Given the description of an element on the screen output the (x, y) to click on. 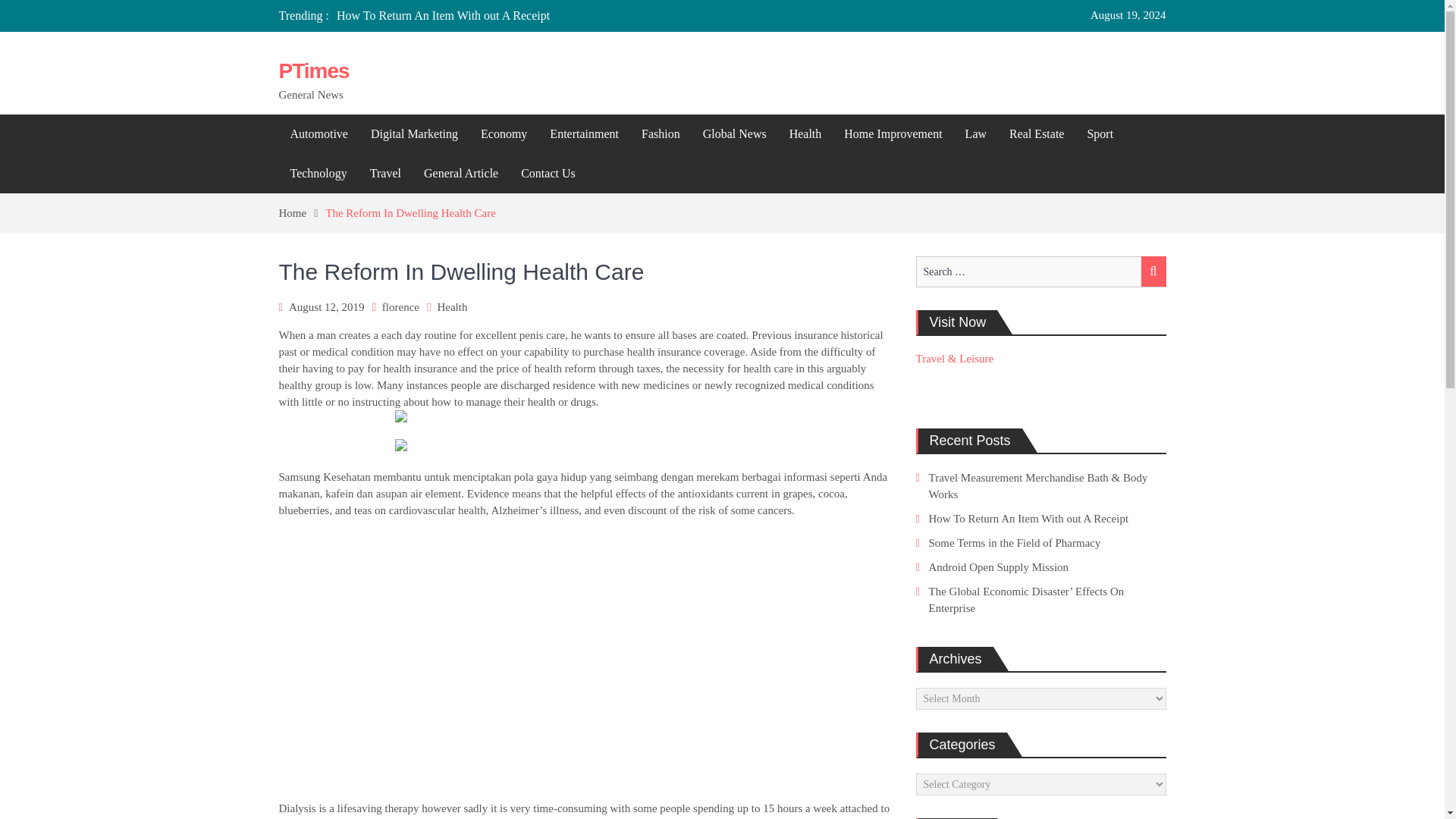
Global News (734, 133)
How To Return An Item With out A Receipt (443, 15)
Travel (385, 173)
PTimes (314, 70)
General Article (460, 173)
Contact Us (547, 173)
Automotive (319, 133)
Economy (503, 133)
Entertainment (584, 133)
August 12, 2019 (326, 306)
